Given the description of an element on the screen output the (x, y) to click on. 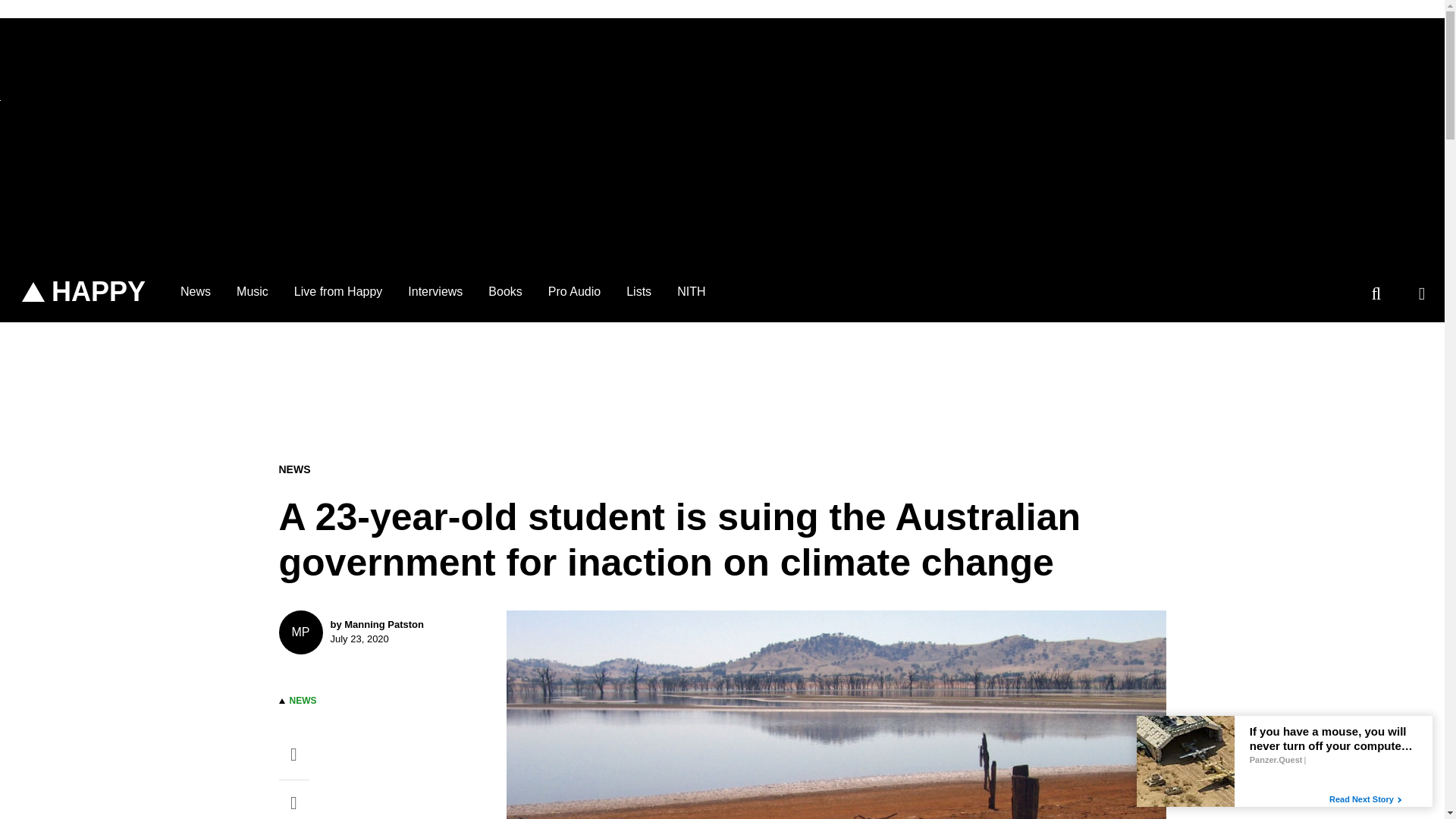
Pro Audio (381, 632)
Books (573, 291)
News (505, 291)
HAPPY (195, 291)
Music (83, 291)
News (252, 291)
NEWS (195, 291)
Interviews (303, 700)
Live from Happy (435, 291)
